Given the description of an element on the screen output the (x, y) to click on. 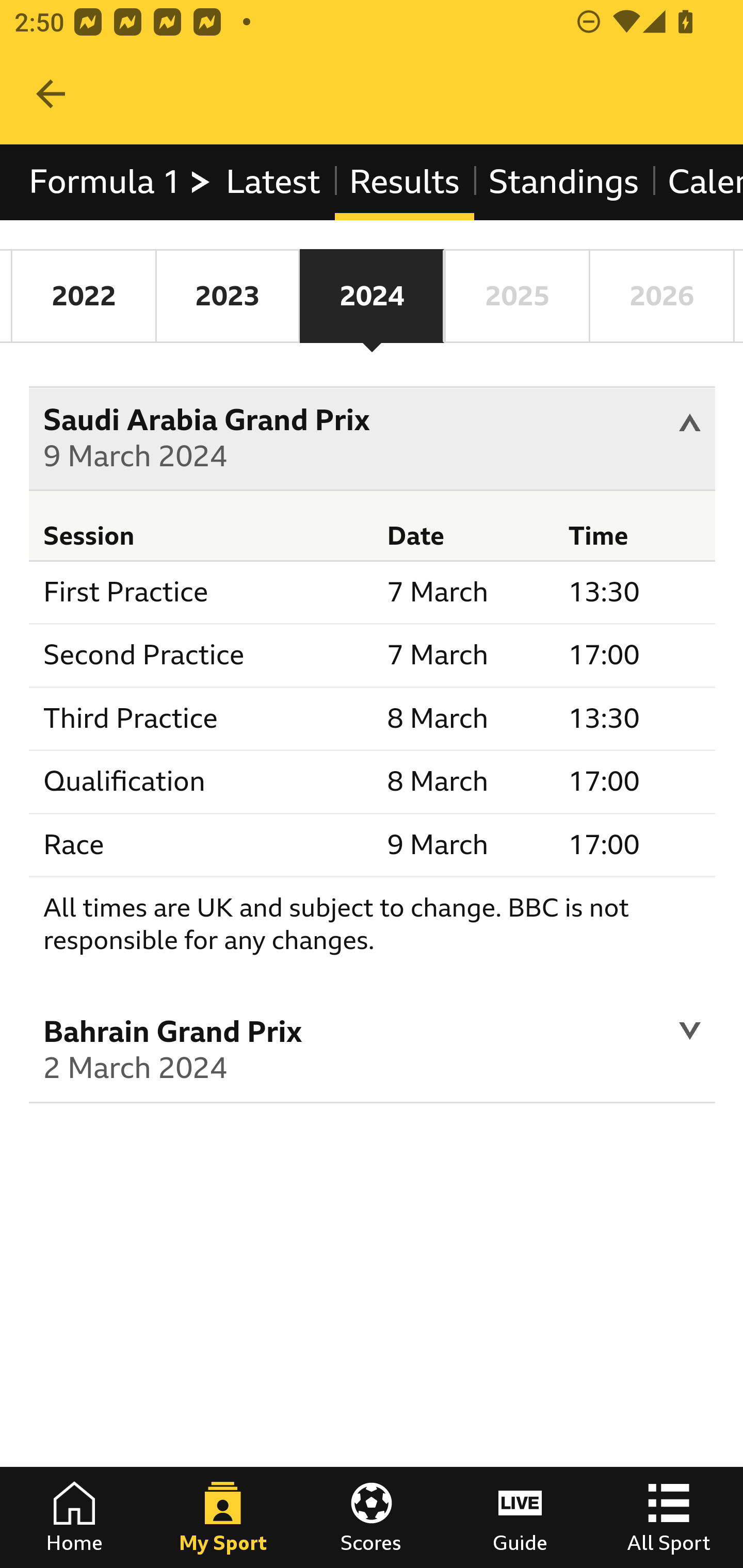
Navigate up (50, 93)
Formula 1  (120, 181)
Latest (272, 181)
Results (403, 181)
Standings (564, 181)
Calendar (697, 181)
2022 (83, 296)
2023 (227, 296)
2024, Selected (371, 296)
Bahrain Grand Prix, Bahrain IC 2 March 2024 (372, 1052)
Home (74, 1517)
Scores (371, 1517)
Guide (519, 1517)
All Sport (668, 1517)
